Given the description of an element on the screen output the (x, y) to click on. 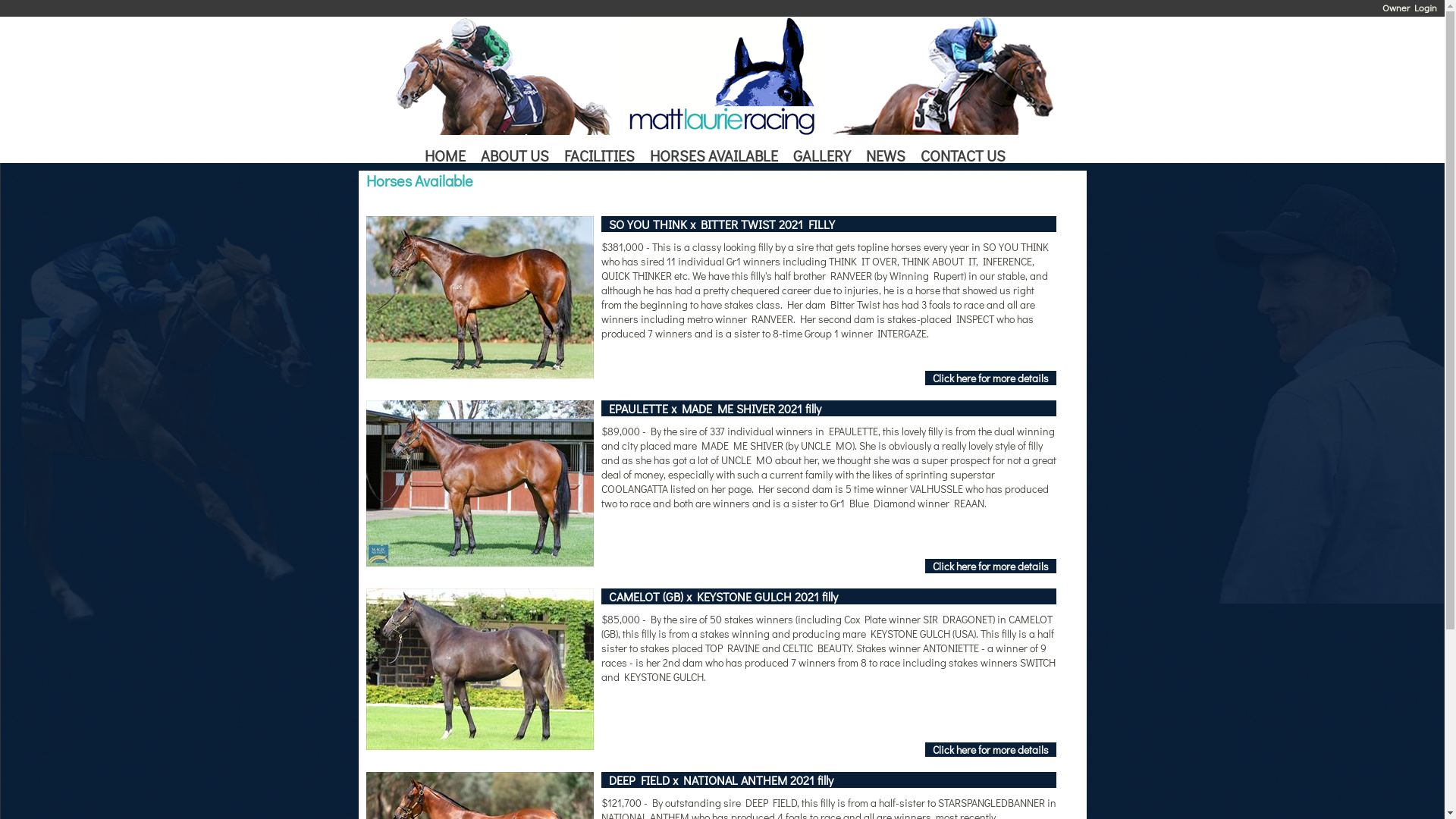
EPAULETTE x MADE ME SHIVER 2021 filly Element type: text (714, 408)
HOME Element type: text (448, 156)
Click here for more details Element type: text (990, 749)
Owner Login Element type: text (1409, 7)
ABOUT US Element type: text (518, 156)
GALLERY Element type: text (825, 156)
CAMELOT (GB) x KEYSTONE GULCH 2021 filly Element type: text (722, 596)
SO YOU THINK x BITTER TWIST 2021 FILLY Element type: text (721, 224)
FACILITIES Element type: text (603, 156)
Click here for more details Element type: text (990, 377)
Click here for more details Element type: text (990, 565)
CONTACT US Element type: text (966, 156)
DEEP FIELD x NATIONAL ANTHEM 2021 filly Element type: text (720, 779)
NEWS Element type: text (889, 156)
HORSES AVAILABLE Element type: text (716, 156)
